Given the description of an element on the screen output the (x, y) to click on. 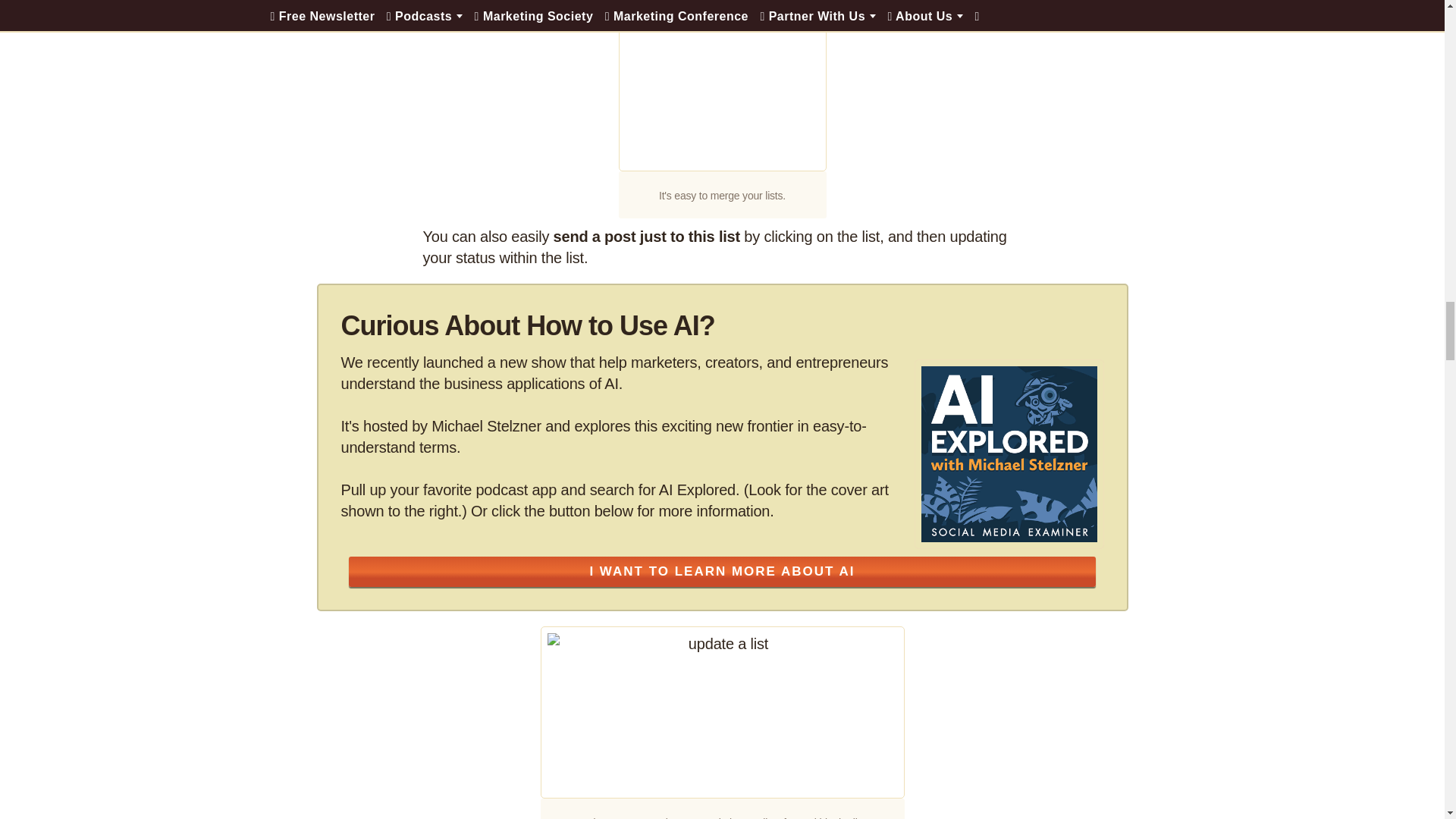
I WANT TO LEARN MORE ABOUT AI (722, 571)
